Given the description of an element on the screen output the (x, y) to click on. 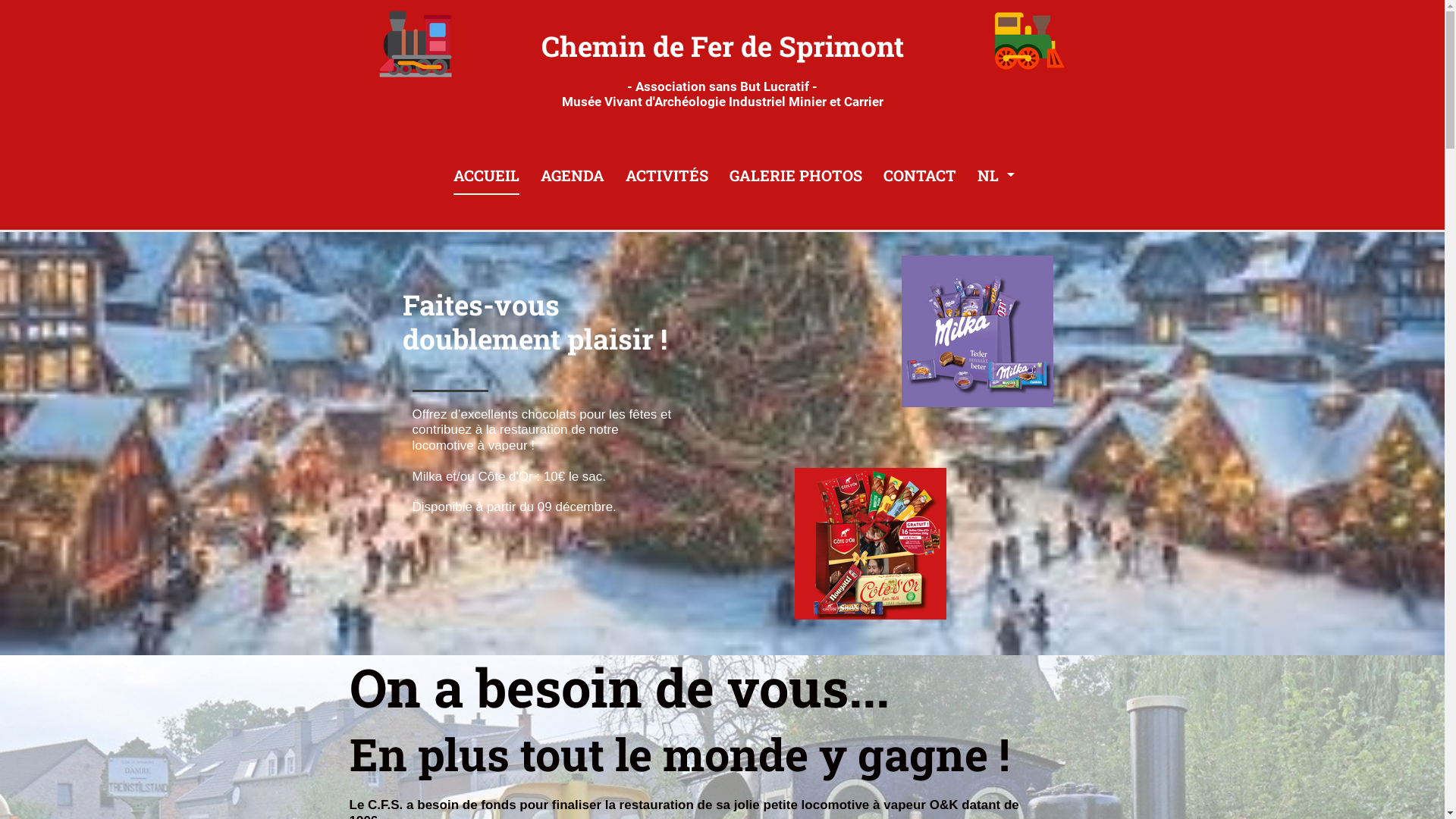
NL Element type: text (1001, 174)
AGENDA Element type: text (571, 174)
ACCUEIL Element type: text (486, 174)
CONTACT Element type: text (918, 174)
GALERIE PHOTOS Element type: text (795, 174)
